Given the description of an element on the screen output the (x, y) to click on. 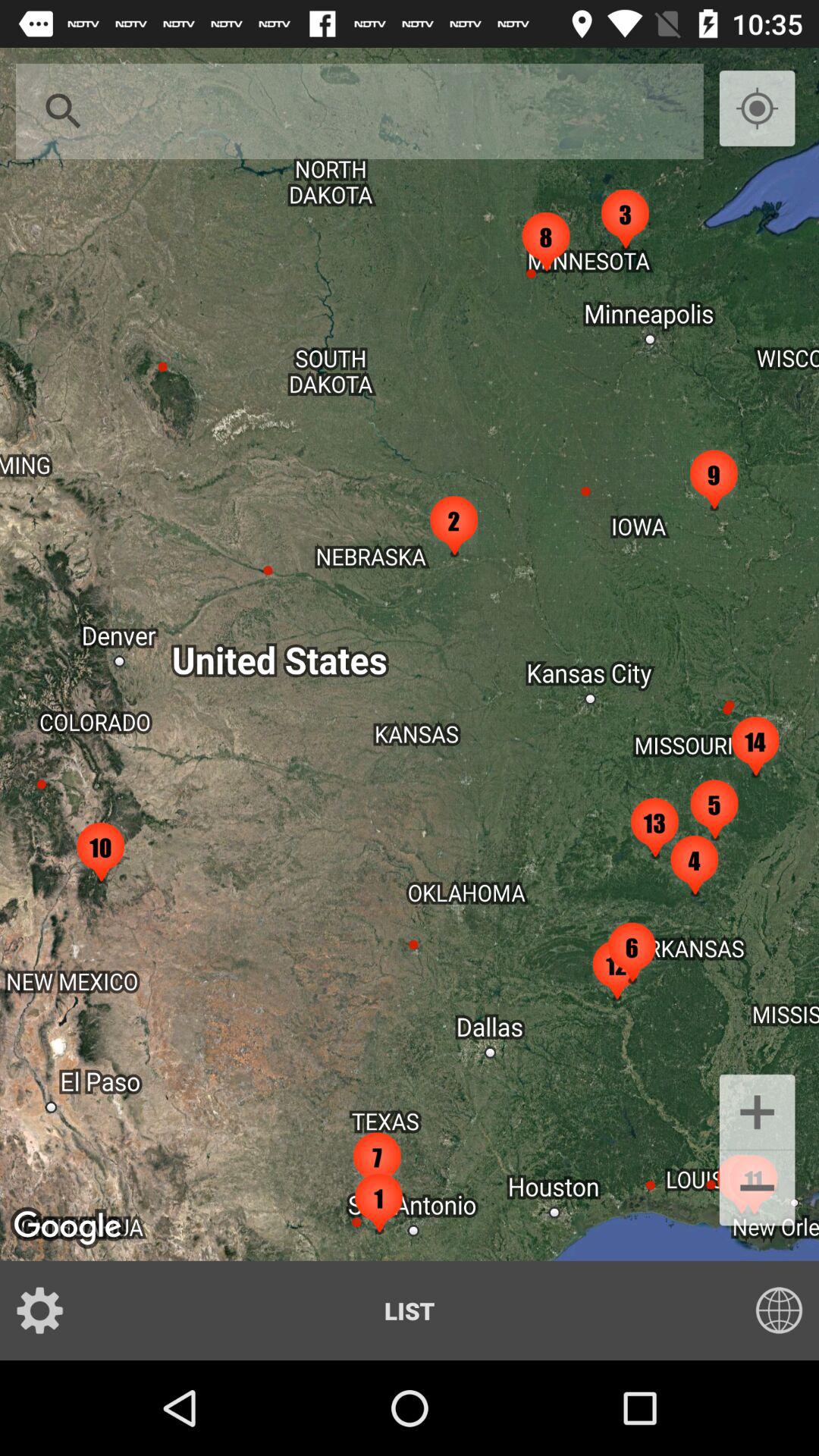
turn off the list item (409, 1310)
